Given the description of an element on the screen output the (x, y) to click on. 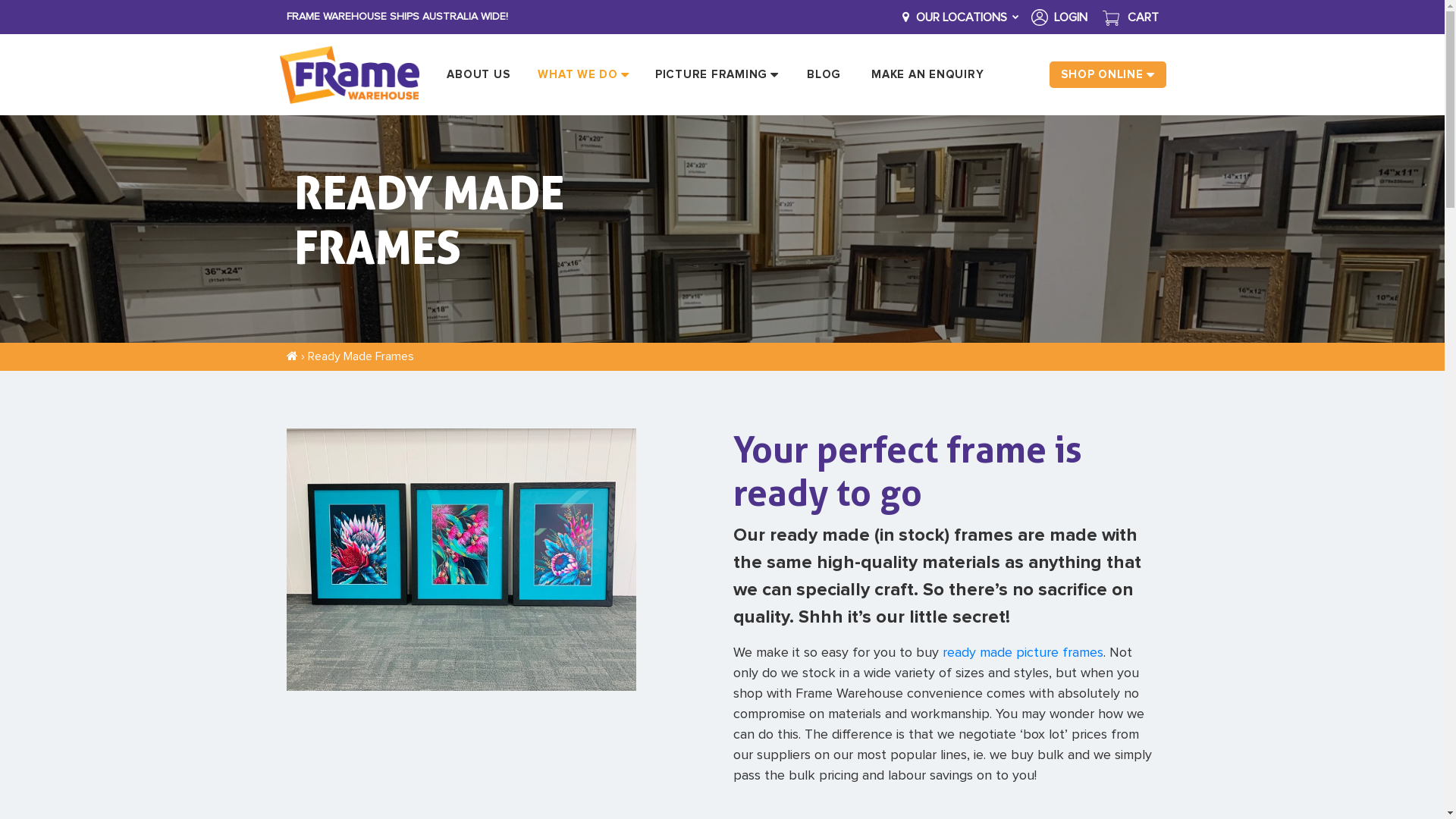
ready made picture frames Element type: text (1022, 652)
ABOUT US Element type: text (478, 74)
BLOG Element type: text (823, 74)
LOGIN Element type: text (1059, 16)
MAKE AN ENQUIRY Element type: text (927, 74)
PICTURE FRAMING Element type: text (716, 74)
OUR LOCATIONS Element type: text (958, 17)
WHAT WE DO Element type: text (583, 74)
CART Element type: text (1130, 16)
SHOP ONLINE Element type: text (1107, 74)
